Given the description of an element on the screen output the (x, y) to click on. 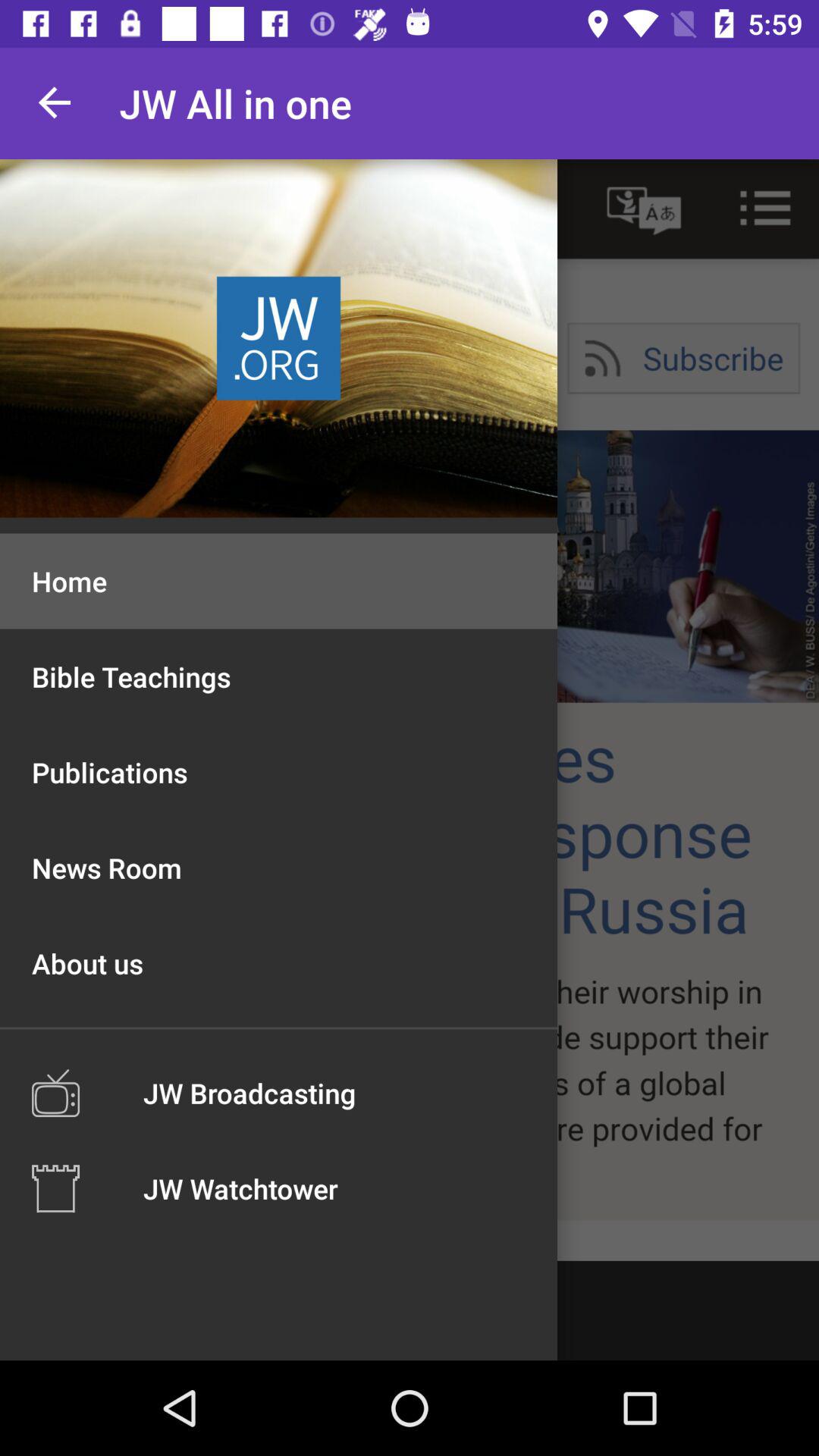
go home (409, 709)
